Given the description of an element on the screen output the (x, y) to click on. 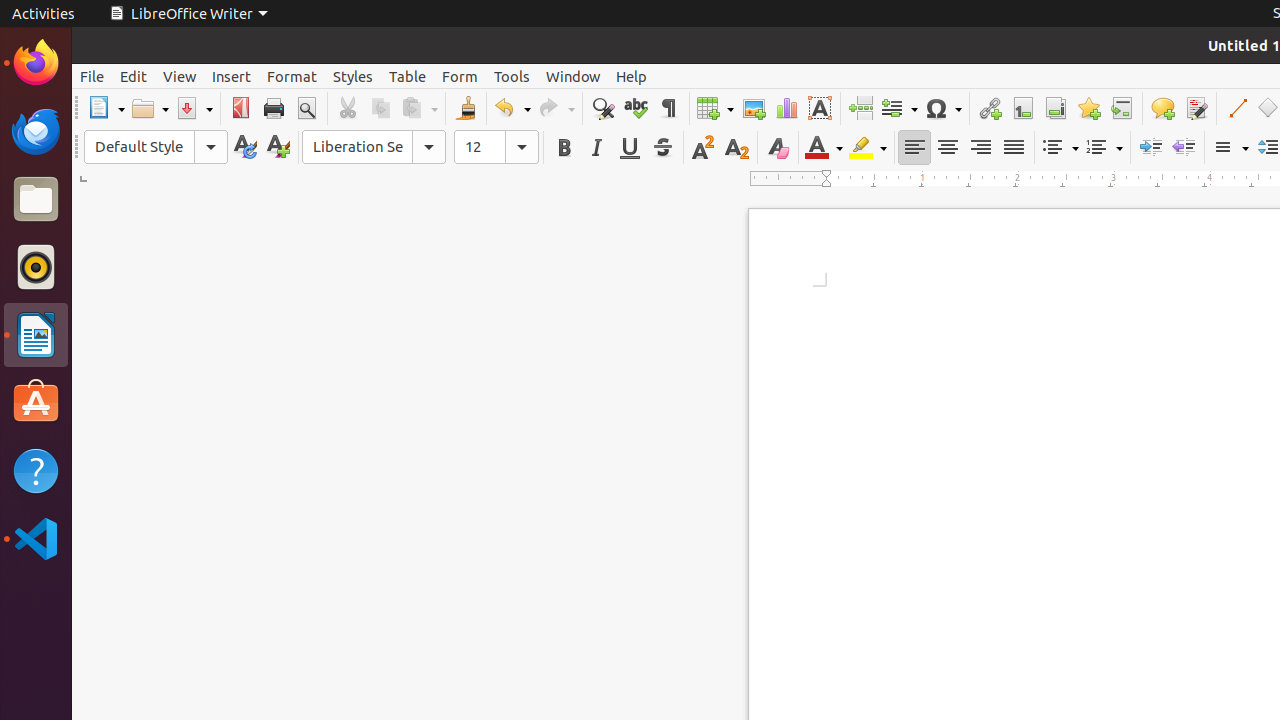
Right Element type: toggle-button (980, 147)
View Element type: menu (179, 76)
Font Name Element type: combo-box (374, 147)
Bullets Element type: push-button (1060, 147)
Text Box Element type: push-button (819, 108)
